Given the description of an element on the screen output the (x, y) to click on. 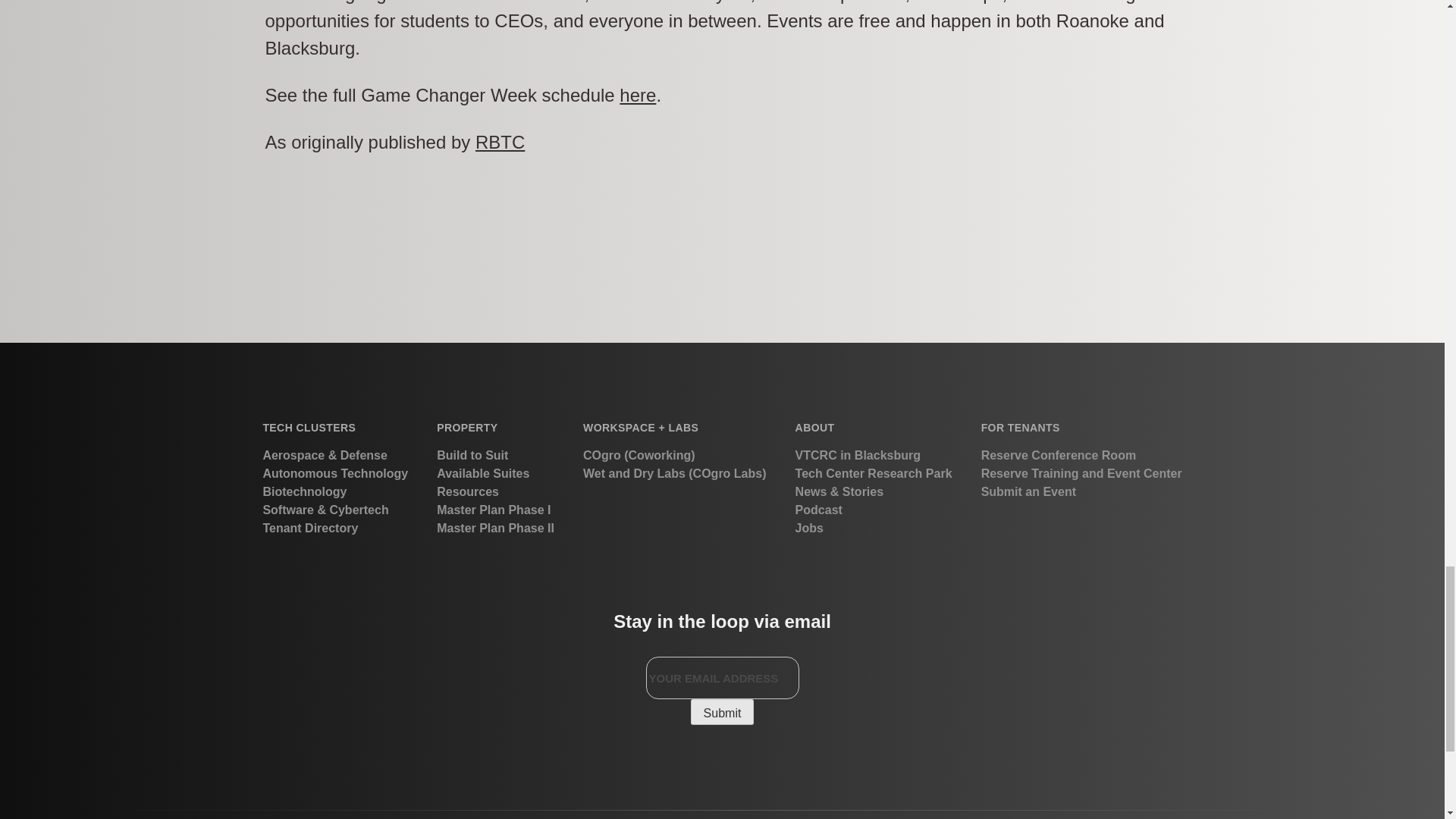
Submit (722, 711)
